Given the description of an element on the screen output the (x, y) to click on. 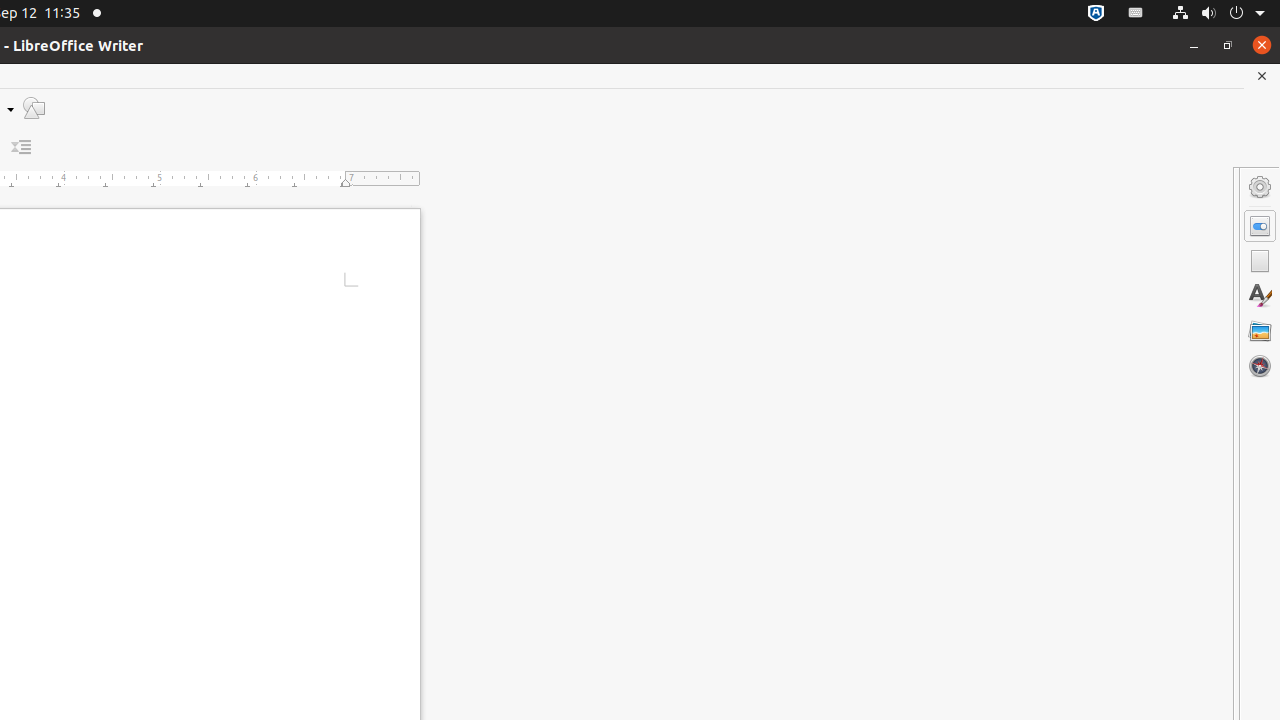
Page Element type: radio-button (1260, 261)
org.kde.StatusNotifierItem-14077-1 Element type: menu (1136, 13)
Styles Element type: radio-button (1260, 296)
Gallery Element type: radio-button (1260, 331)
Draw Functions Element type: push-button (33, 108)
